Given the description of an element on the screen output the (x, y) to click on. 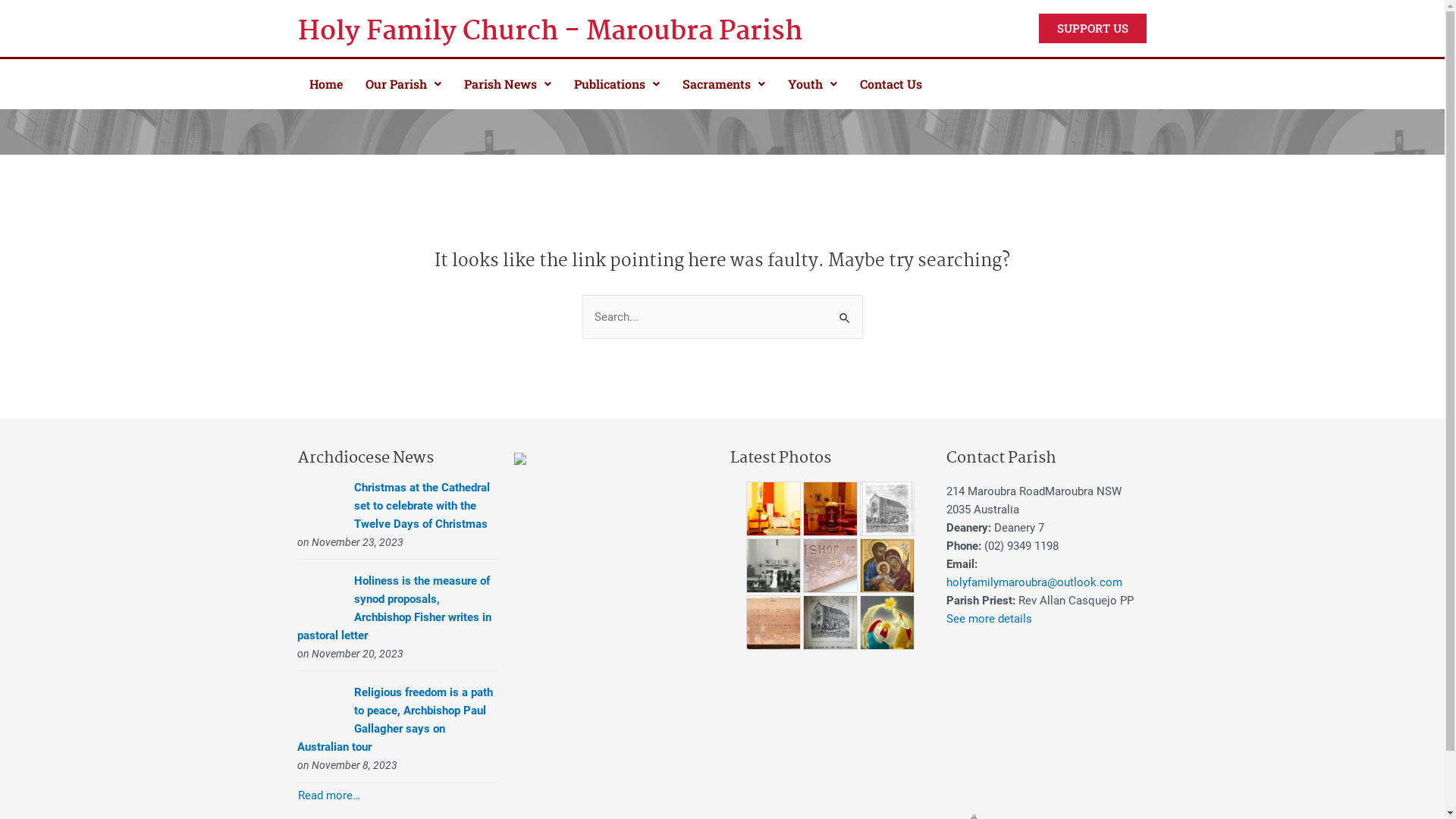
Contact Us Element type: text (889, 83)
Sacraments Element type: text (722, 83)
A wedding from the past, before renovations. Element type: hover (773, 564)
History Booklet Element type: hover (829, 622)
Publications Element type: text (616, 83)
SUPPORT US Element type: text (1092, 28)
Holy Family Church - Maroubra Parish Element type: text (577, 32)
Search Element type: text (845, 309)
See more details Element type: text (989, 617)
Home Element type: text (325, 83)
holyfamilymaroubra@outlook.com Element type: text (1034, 581)
Our Parish Element type: text (402, 83)
Parish News Element type: text (506, 83)
Youth Element type: text (812, 83)
